Given the description of an element on the screen output the (x, y) to click on. 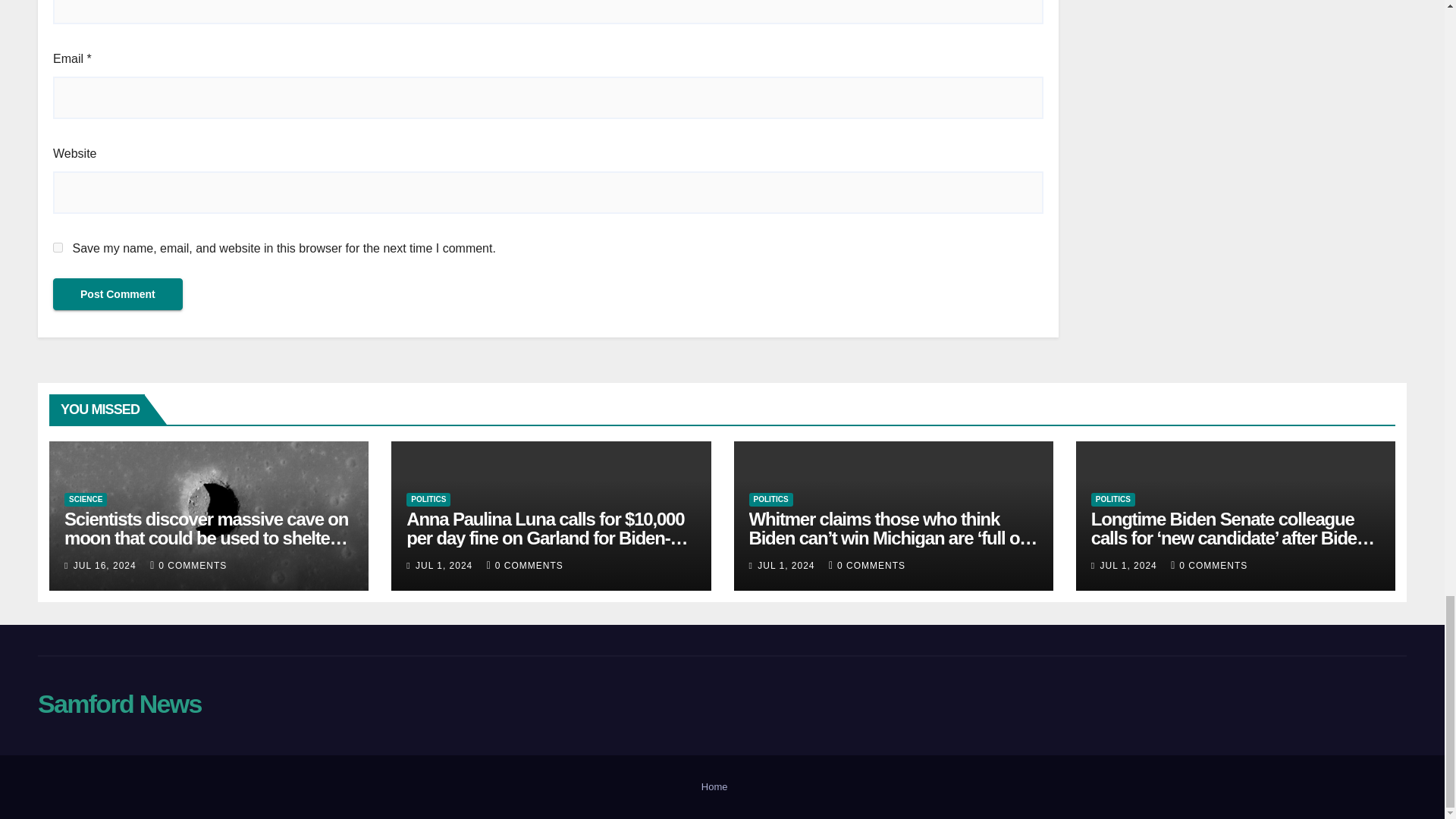
Post Comment (117, 294)
yes (57, 247)
Post Comment (117, 294)
